Given the description of an element on the screen output the (x, y) to click on. 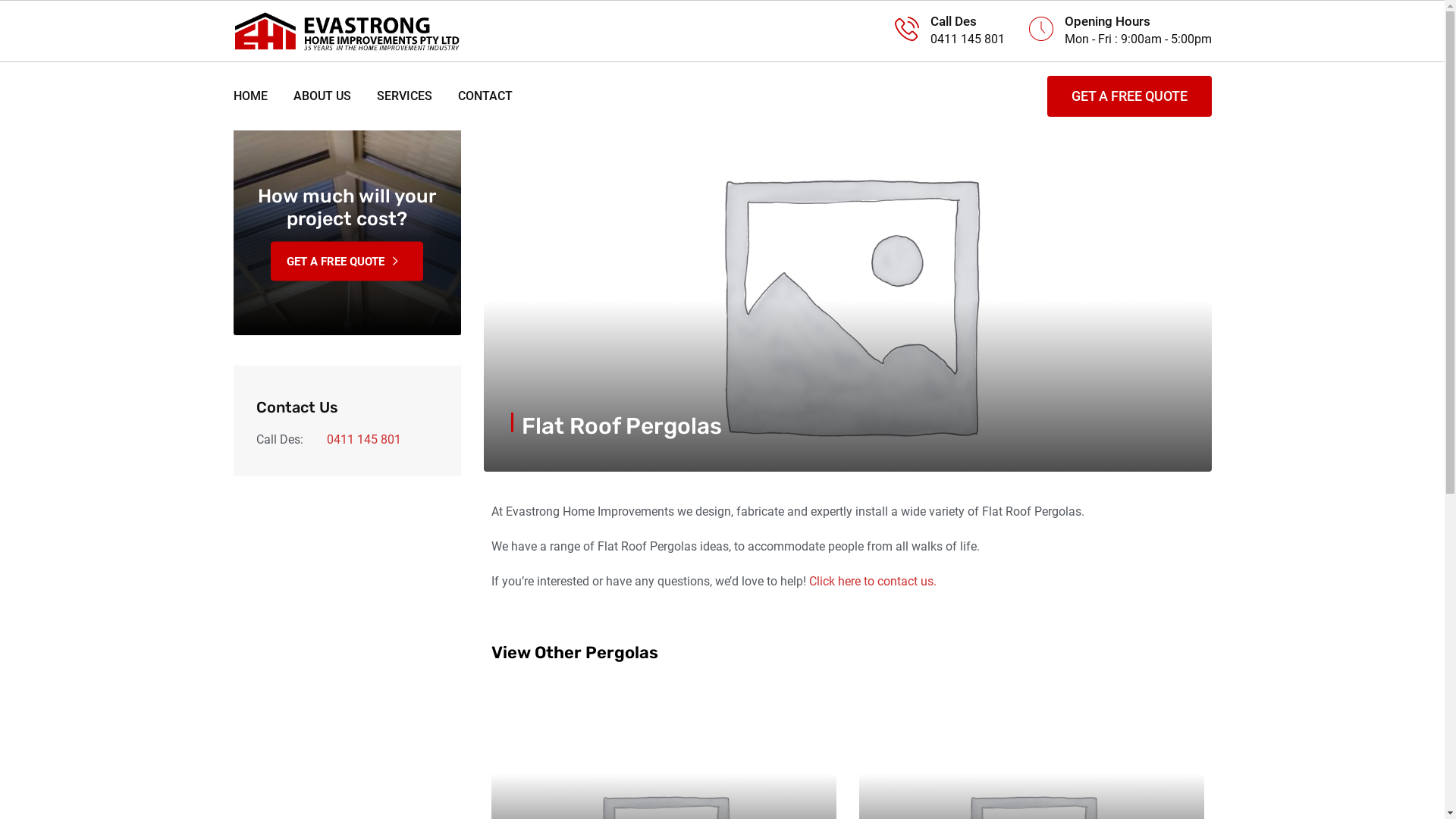
ABOUT US Element type: text (322, 96)
HOME Element type: text (256, 96)
Call Des
0411 145 801 Element type: text (949, 30)
0411 145 801 Element type: text (363, 439)
Click here to contact us. Element type: text (871, 581)
SERVICES Element type: text (404, 96)
GET A FREE QUOTE Element type: text (346, 260)
CONTACT Element type: text (478, 96)
GET A FREE QUOTE Element type: text (1128, 95)
